Given the description of an element on the screen output the (x, y) to click on. 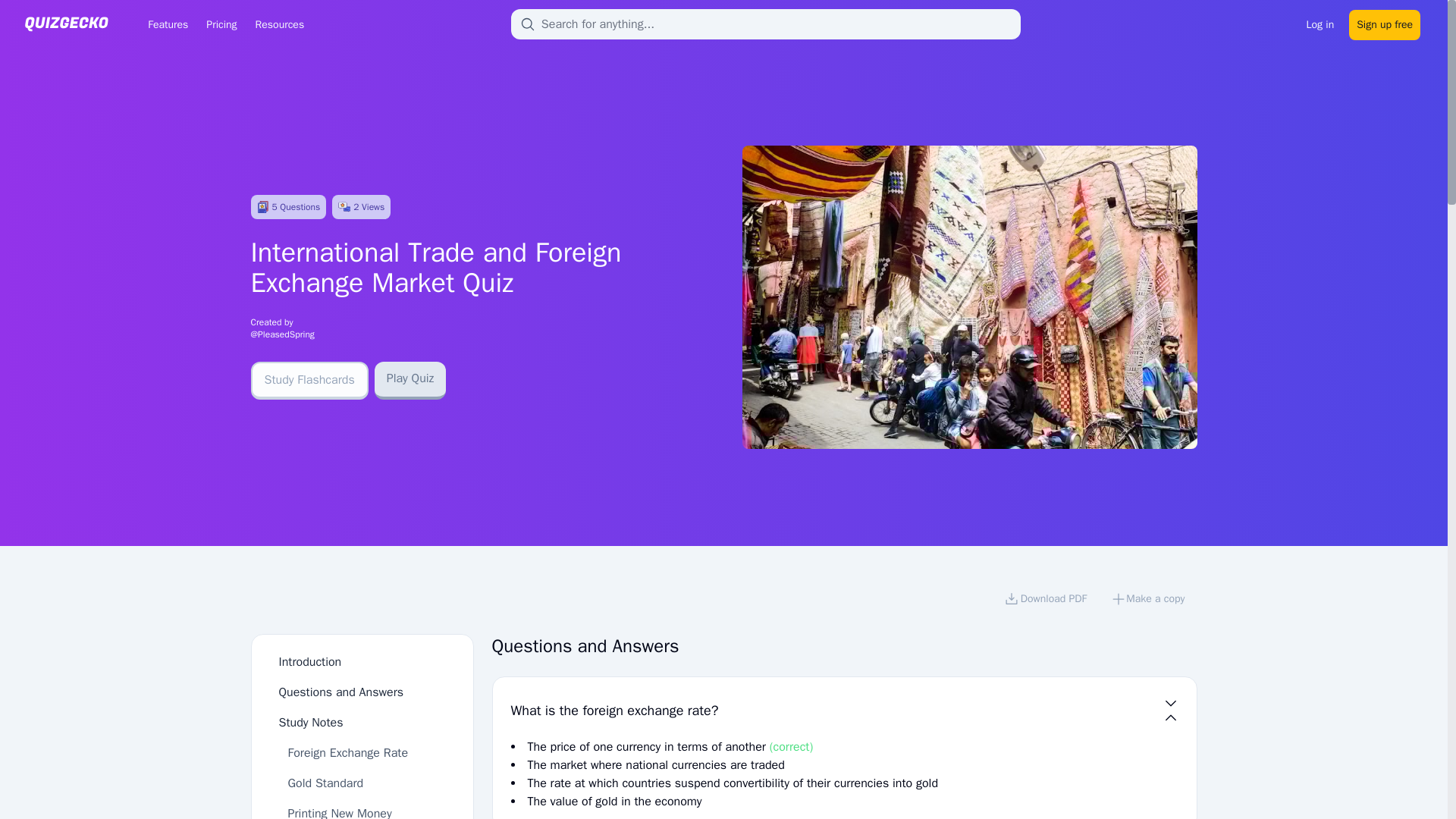
Play Quiz (410, 380)
Questions and Answers (341, 692)
Resources (279, 23)
Gold Standard (326, 783)
Foreign Exchange Rate (348, 752)
Pricing (221, 23)
Sign up free (1384, 23)
Download PDF (1045, 600)
Study Notes (311, 722)
Printing New Money (339, 812)
